Given the description of an element on the screen output the (x, y) to click on. 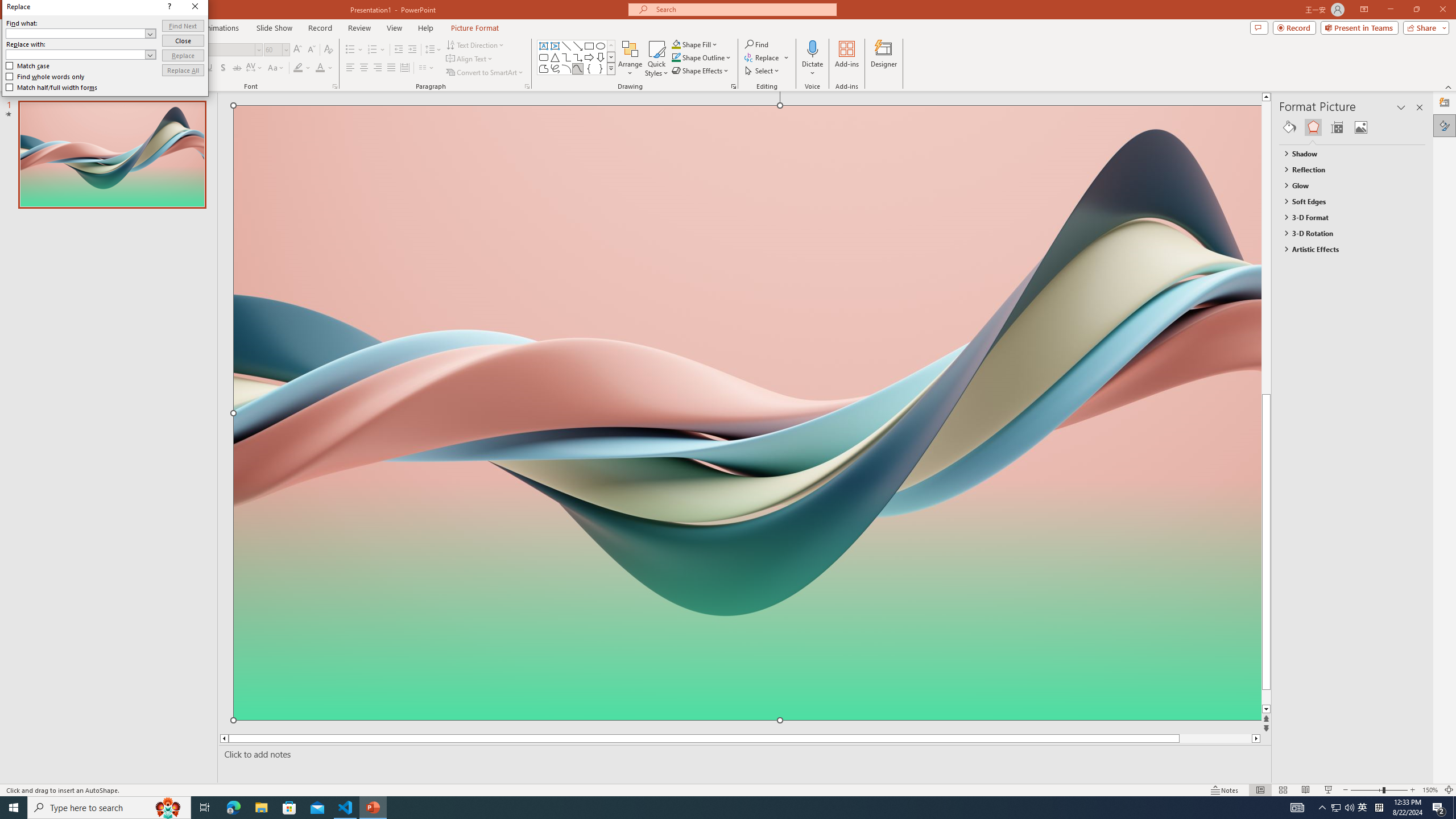
Running applications (707, 807)
Replace with (75, 53)
Fill & Line (1288, 126)
Find whole words only (45, 76)
